Given the description of an element on the screen output the (x, y) to click on. 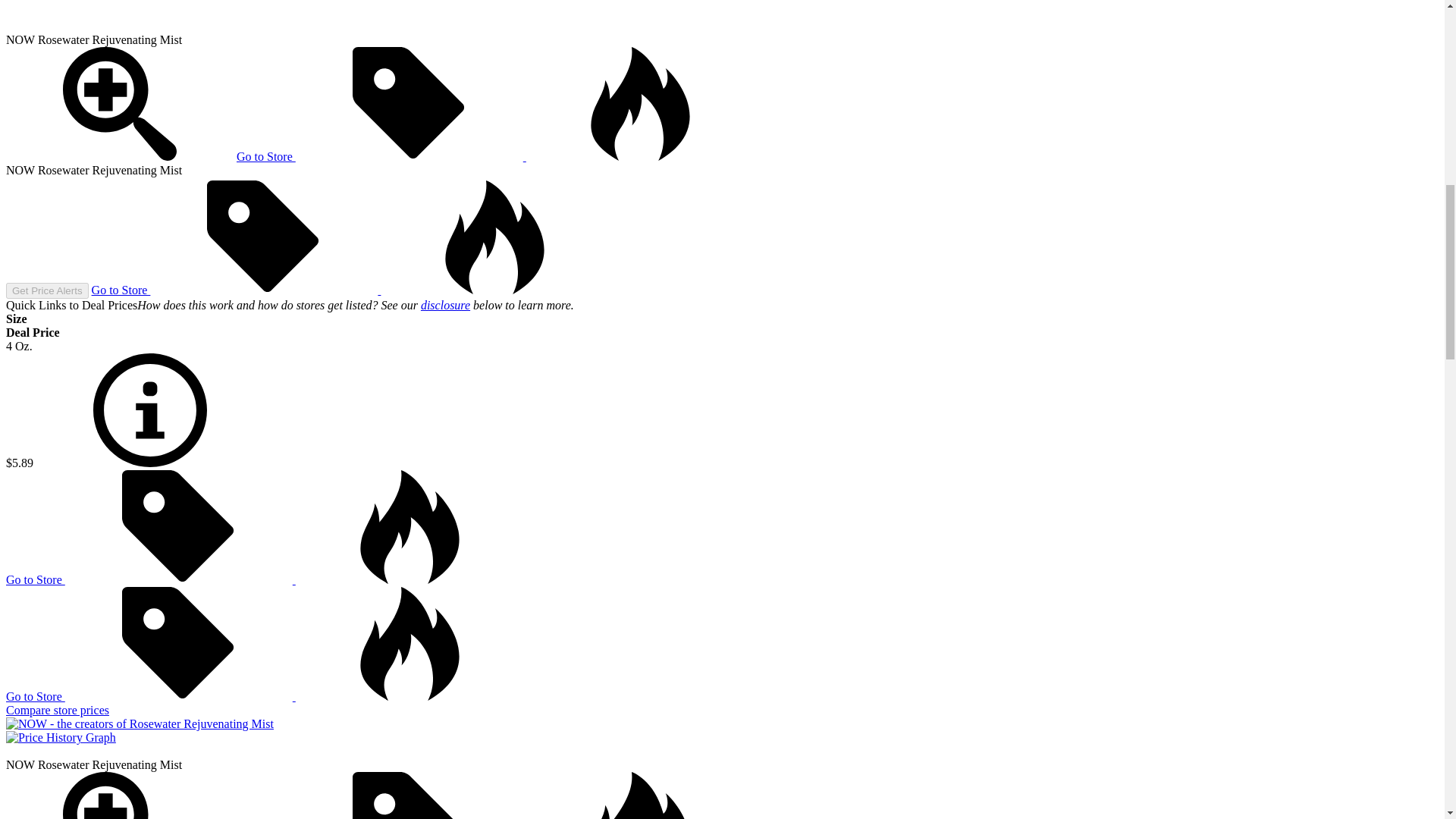
This is a Buy 1 Get 1 FREE offer! (408, 526)
A coupon is available! Click to see the coupon code. (408, 795)
This is a Buy 1 Get 1 FREE offer! (494, 237)
Zoom In (118, 103)
Get Price Alerts (46, 290)
This is a Buy 1 Get 1 FREE offer! (639, 795)
Compare store prices (57, 709)
Zoom In (118, 155)
